Given the description of an element on the screen output the (x, y) to click on. 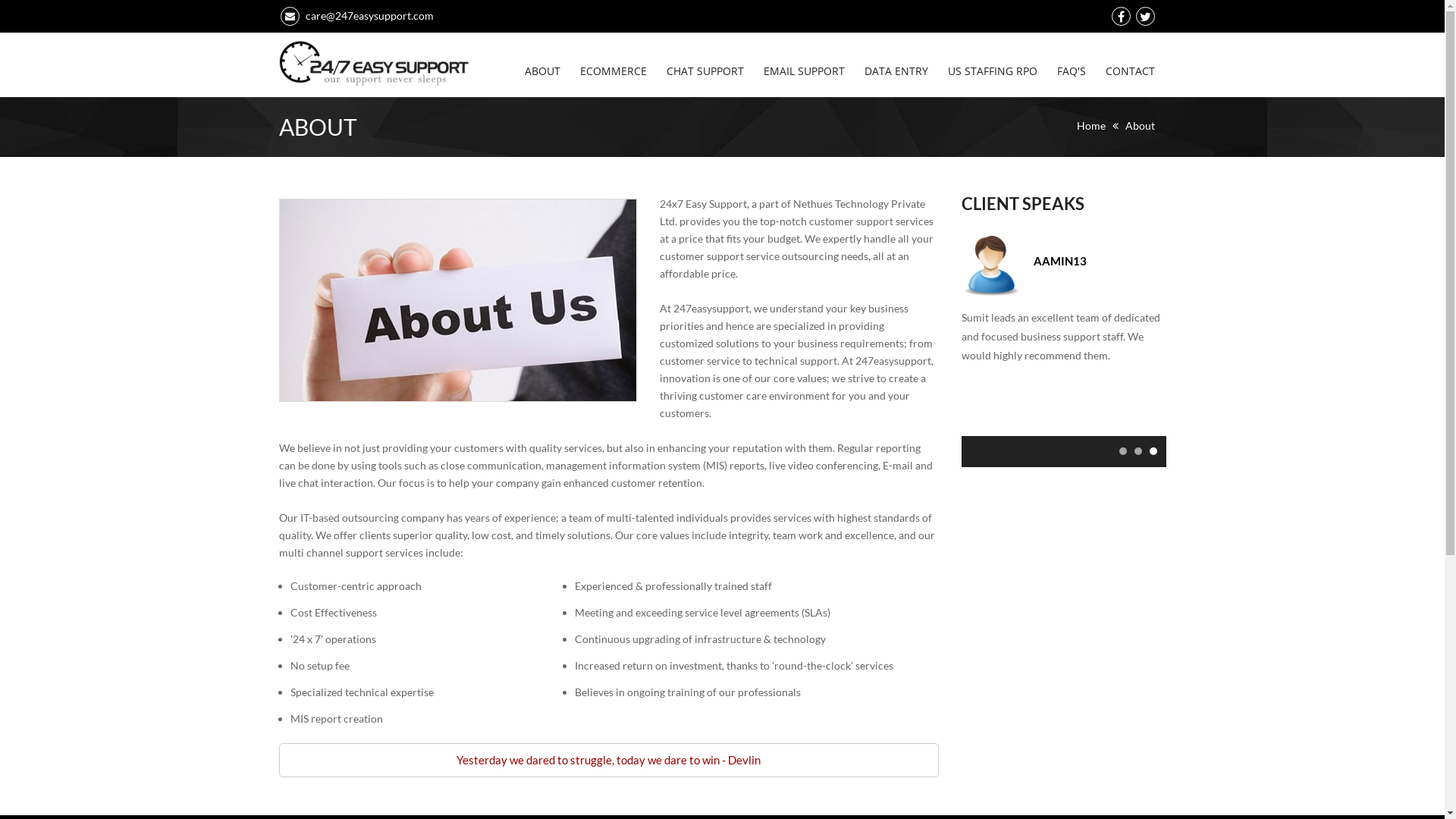
About Element type: text (1139, 125)
TWITTER Element type: hover (1145, 16)
Home Element type: text (1090, 125)
FACEBOOK Element type: hover (1121, 16)
US STAFFING RPO Element type: text (991, 59)
ABOUT Element type: text (541, 59)
DATA ENTRY Element type: text (895, 59)
CHAT SUPPORT Element type: text (704, 59)
CONTACT Element type: text (1124, 59)
EMAIL SUPPORT Element type: text (803, 59)
2 Element type: text (1138, 451)
ECOMMERCE Element type: text (613, 59)
1 Element type: text (1122, 451)
3 Element type: text (1153, 451)
FAQ'S Element type: text (1070, 59)
 care@247easysupport.com Element type: text (356, 15)
